Given the description of an element on the screen output the (x, y) to click on. 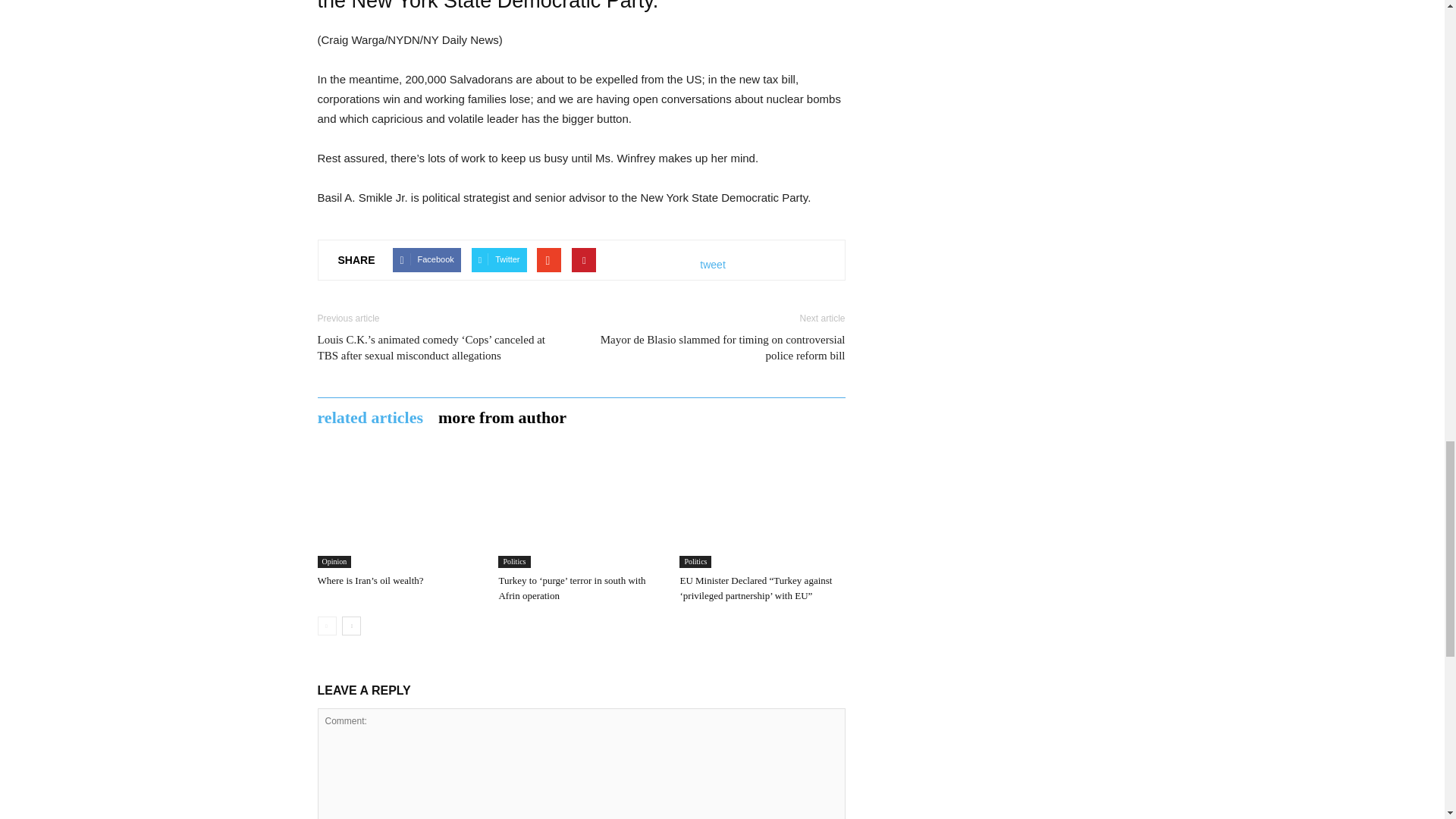
Twitter (499, 259)
Facebook (426, 259)
